Given the description of an element on the screen output the (x, y) to click on. 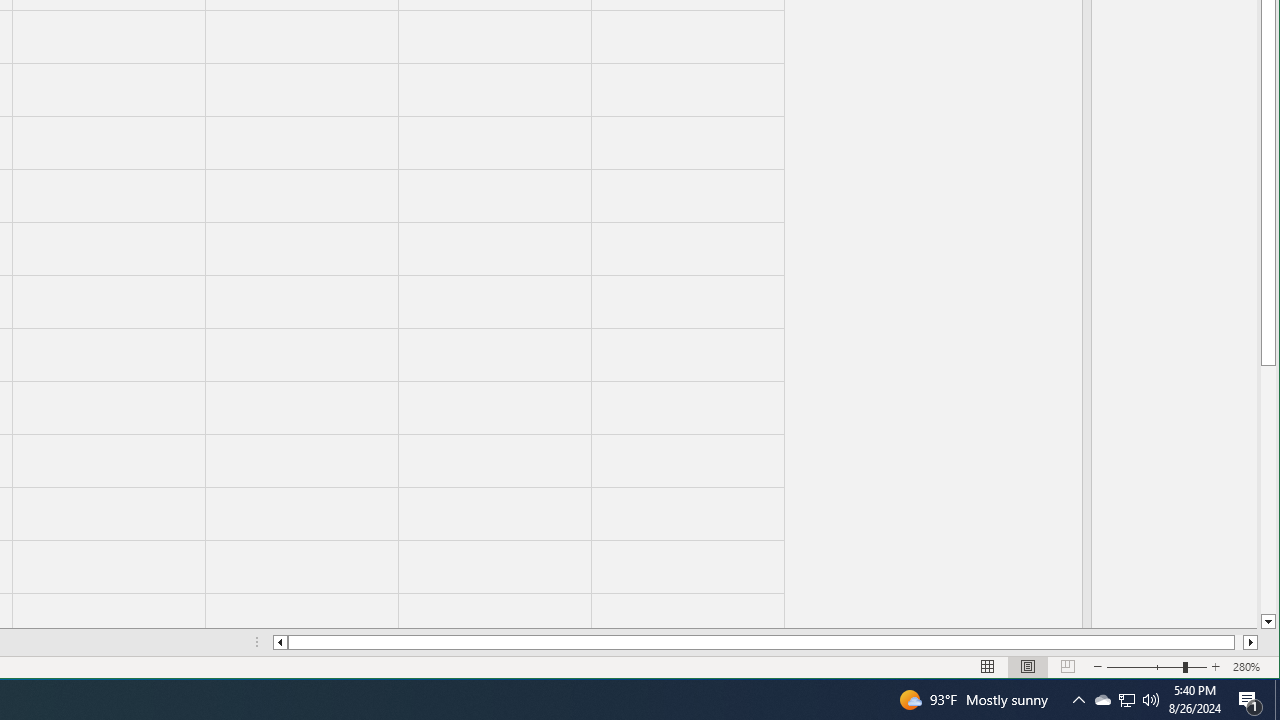
Action Center, 1 new notification (1250, 699)
